Given the description of an element on the screen output the (x, y) to click on. 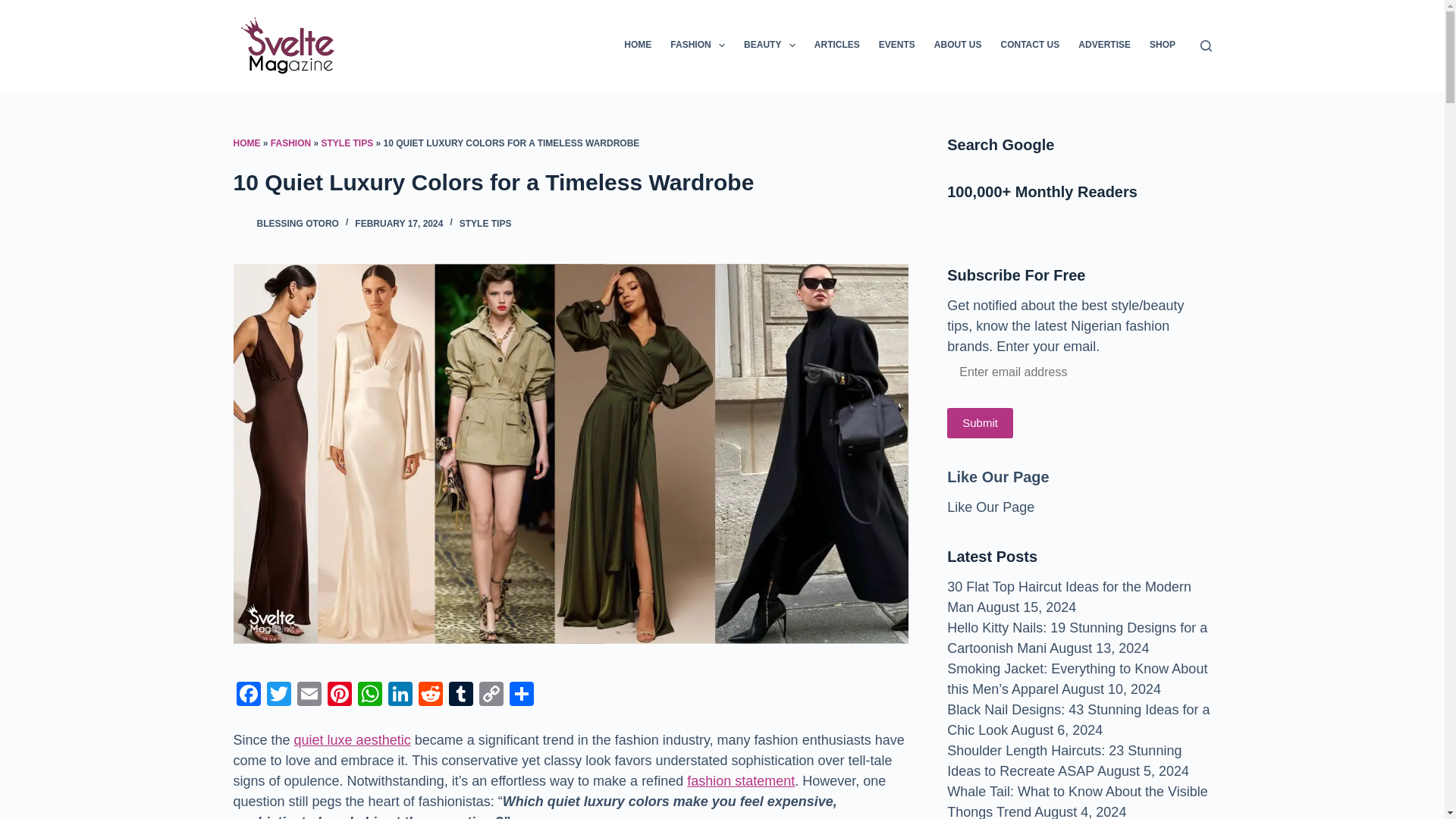
Copy Link (491, 695)
Reddit (429, 695)
10 Quiet Luxury Colors for a Timeless Wardrobe (570, 182)
Tumblr (460, 695)
LinkedIn (399, 695)
Posts by Blessing Otoro (296, 223)
Twitter (278, 695)
Facebook (247, 695)
Pinterest (339, 695)
Skip to content (15, 7)
